Given the description of an element on the screen output the (x, y) to click on. 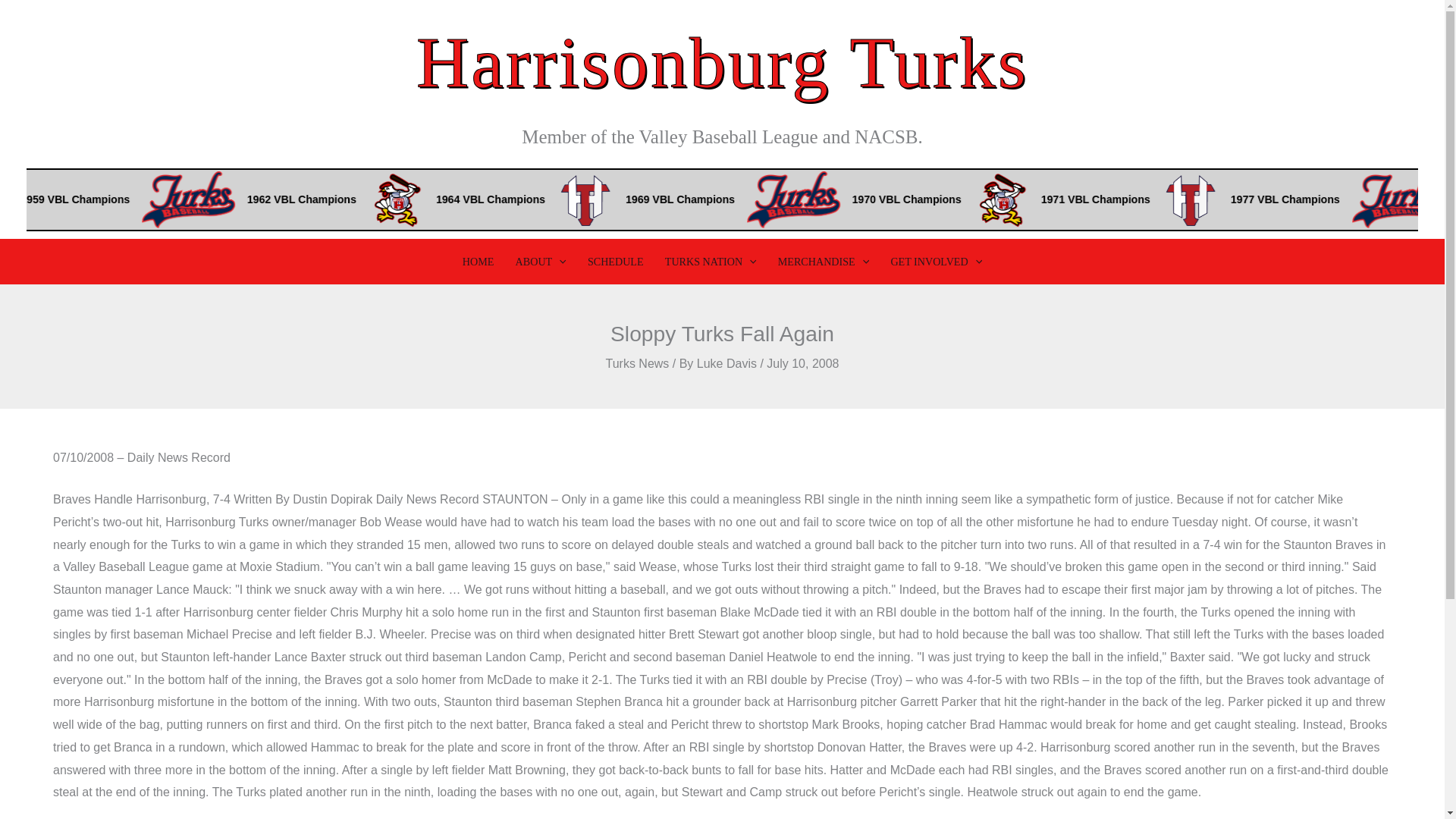
TURKS NATION (710, 261)
1962 VBL Champions (466, 199)
1964 VBL Champions (652, 199)
1971 VBL Champions (1246, 199)
1958 VBL Champions (64, 199)
HOME (478, 261)
1969 VBL Champions (837, 199)
GET INVOLVED (935, 261)
1959 VBL Champions (246, 199)
ABOUT (539, 261)
